Given the description of an element on the screen output the (x, y) to click on. 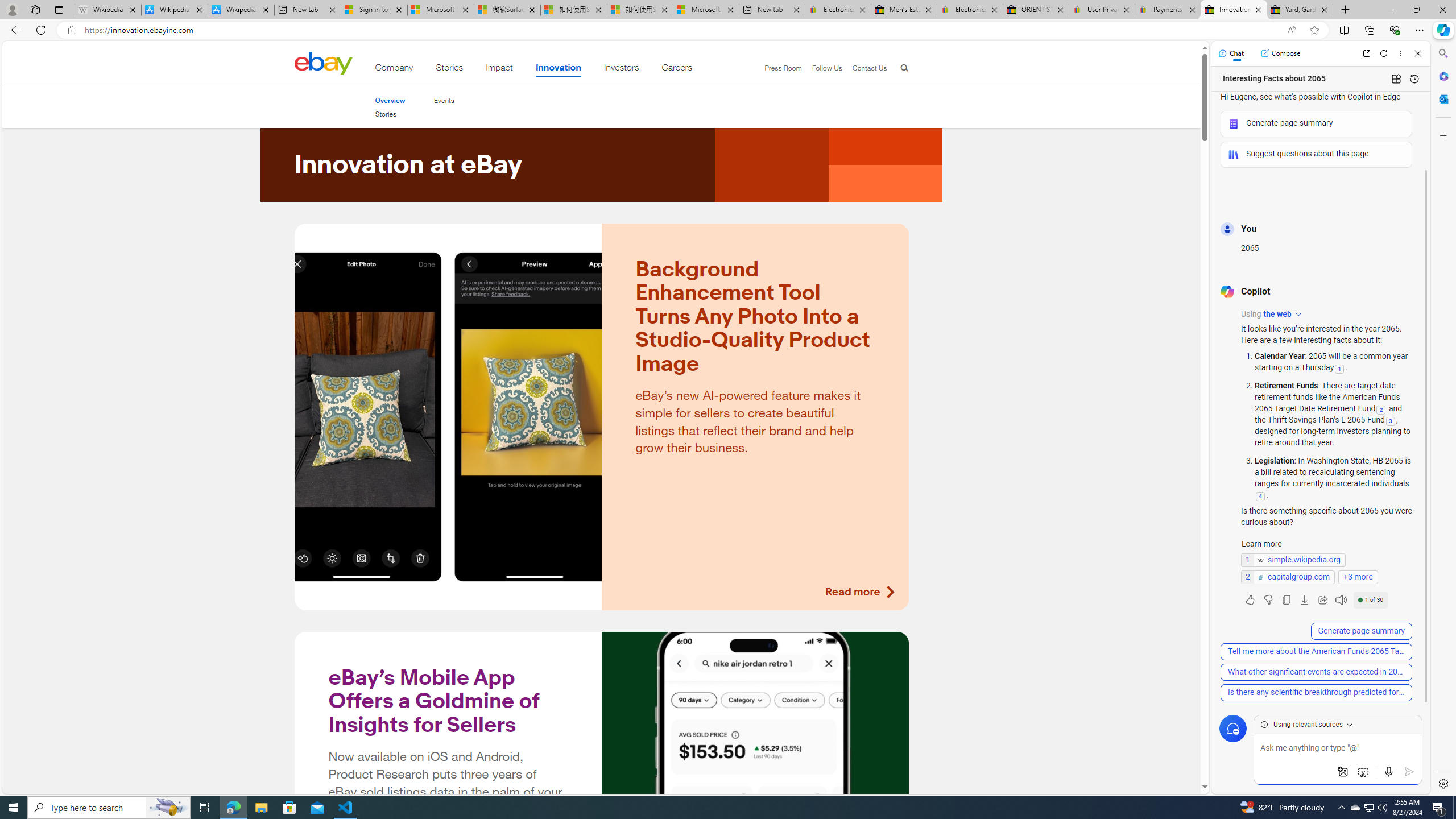
Stories (390, 113)
Overview (390, 100)
Investors (620, 69)
Yard, Garden & Outdoor Living (1300, 9)
Compose (1280, 52)
Impact (499, 69)
Overview (390, 99)
Stories (385, 113)
